Given the description of an element on the screen output the (x, y) to click on. 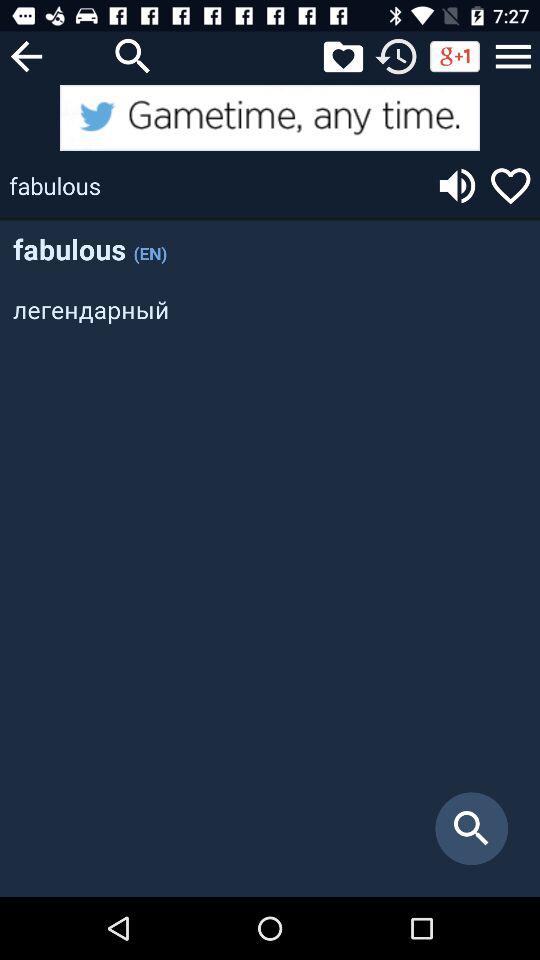
mark as favorite (510, 185)
